Given the description of an element on the screen output the (x, y) to click on. 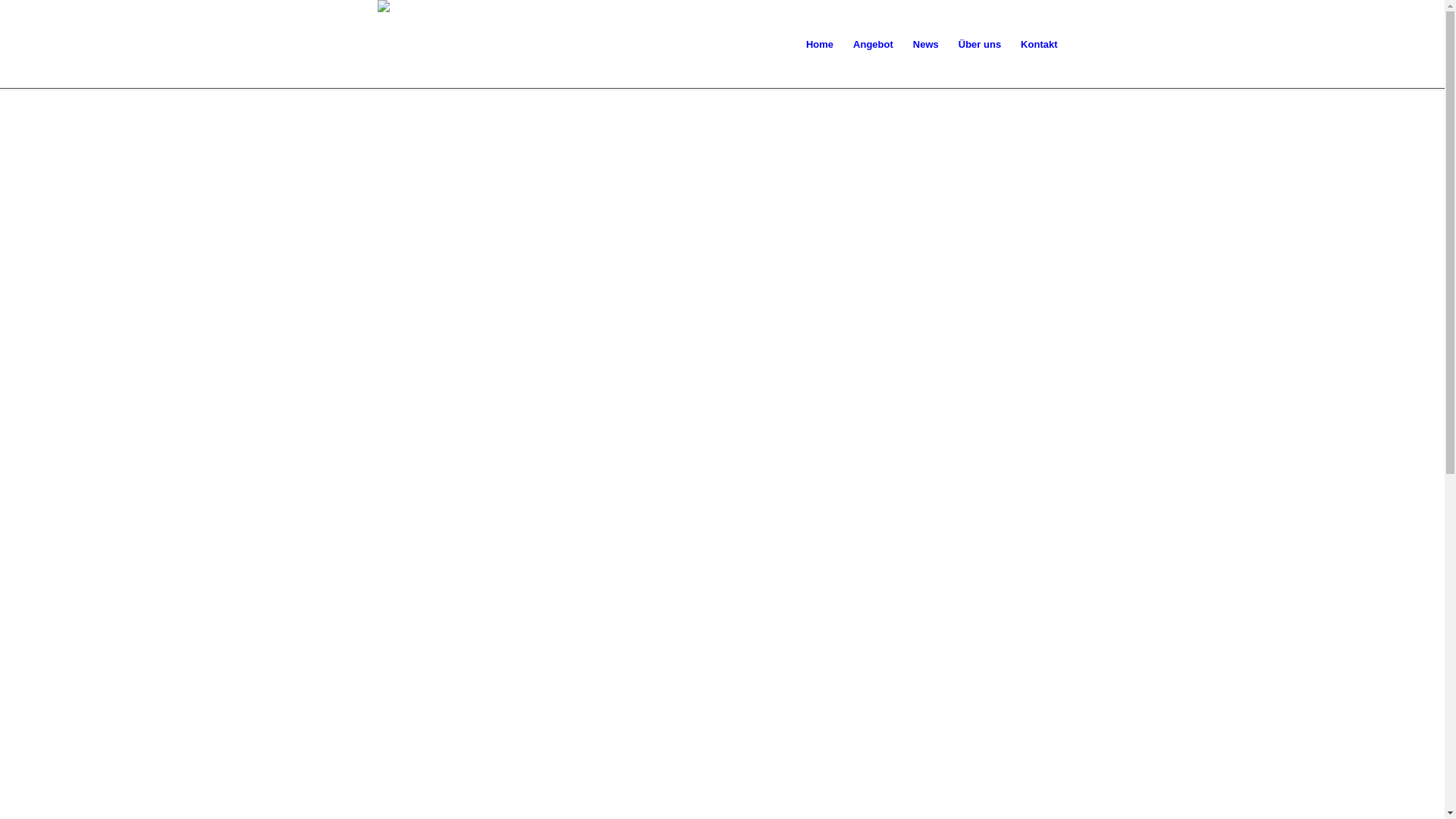
Home Element type: text (819, 44)
News Element type: text (925, 44)
Angebot Element type: text (873, 44)
Weiter Element type: text (1410, 607)
Kontakt Element type: text (1038, 44)
